Given the description of an element on the screen output the (x, y) to click on. 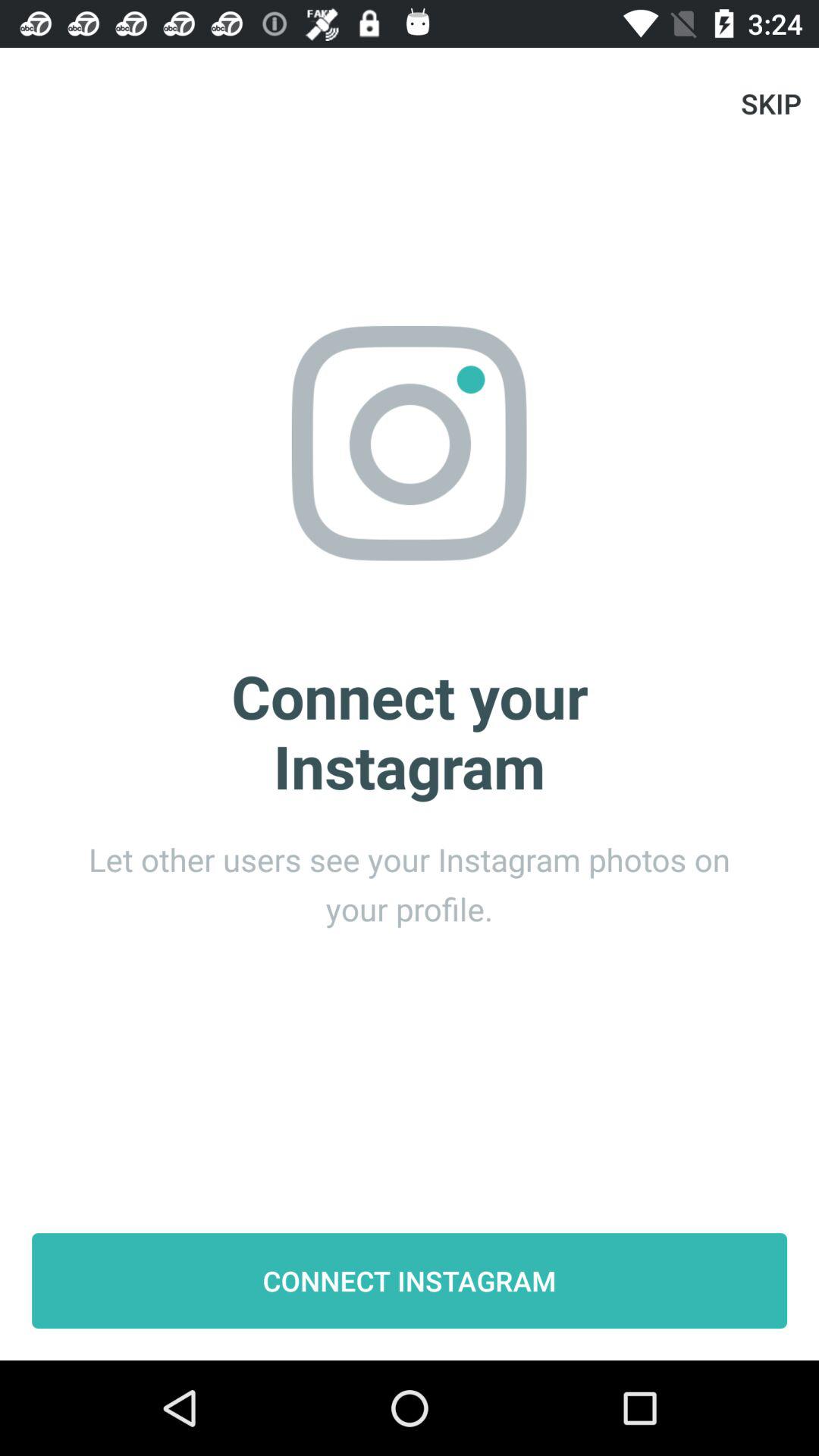
tap the skip icon (771, 103)
